Given the description of an element on the screen output the (x, y) to click on. 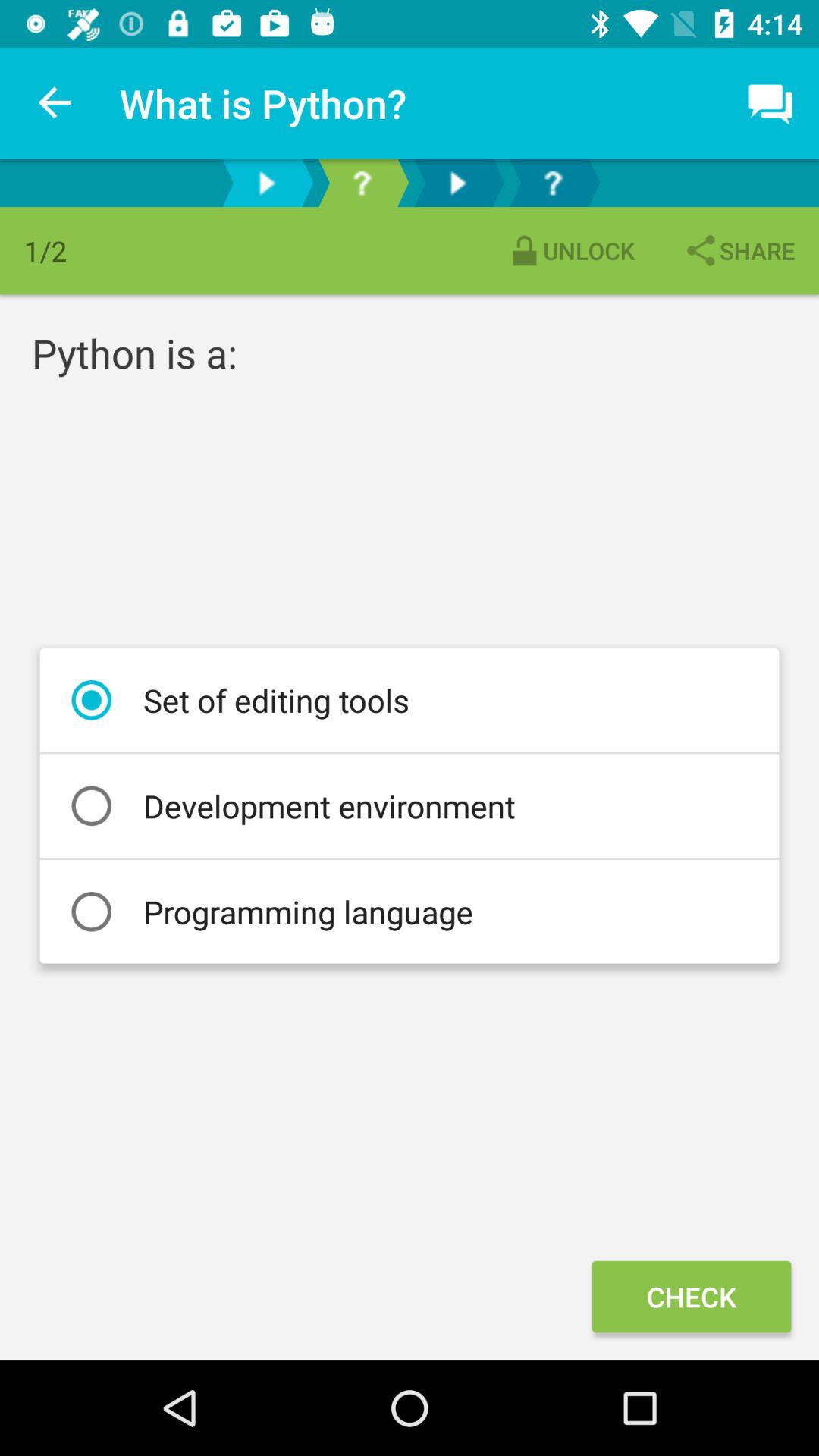
press icon to the right of the unlock icon (738, 250)
